Given the description of an element on the screen output the (x, y) to click on. 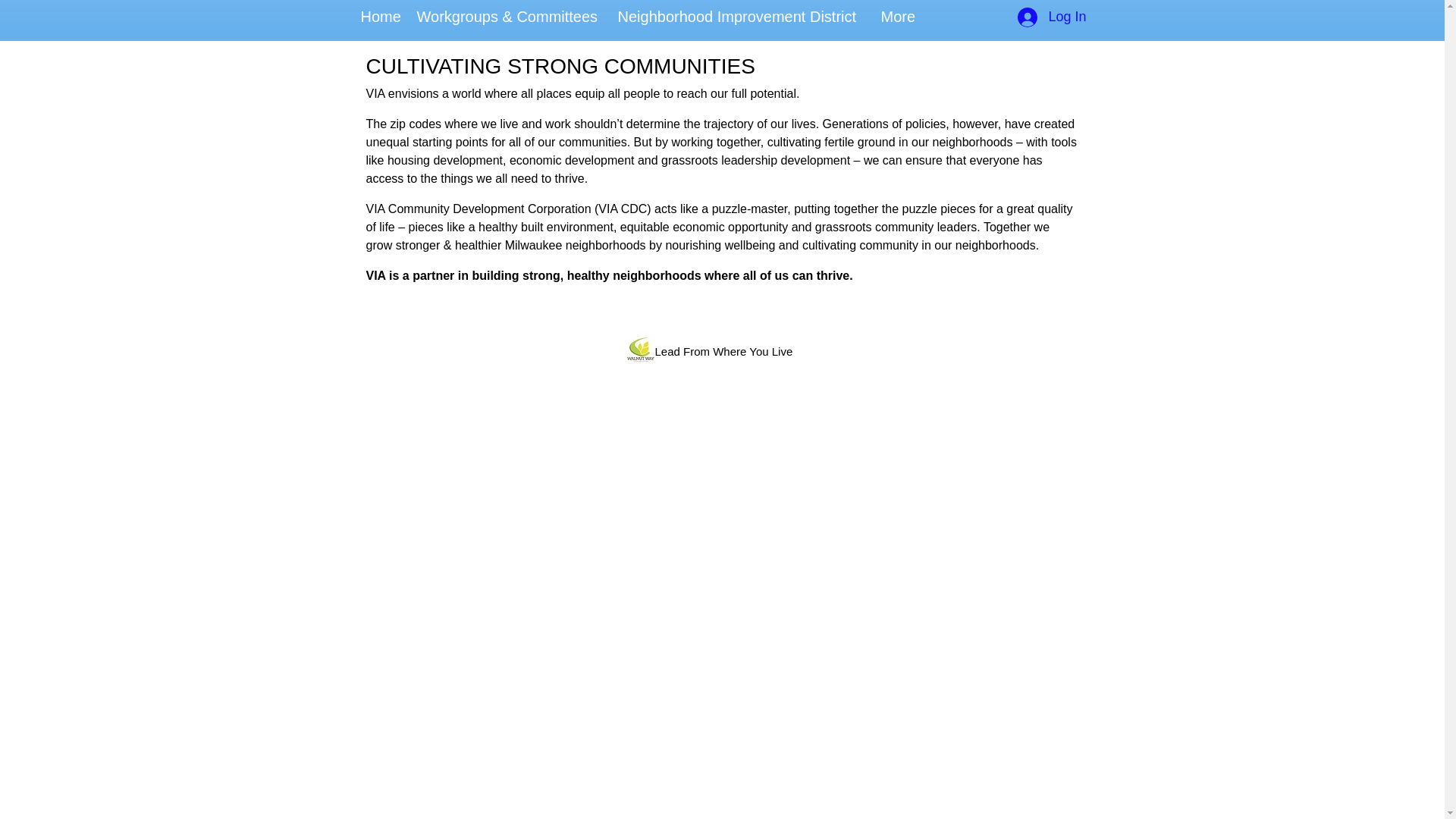
Log In (1051, 17)
Home (381, 16)
Neighborhood Improvement District (741, 16)
